Given the description of an element on the screen output the (x, y) to click on. 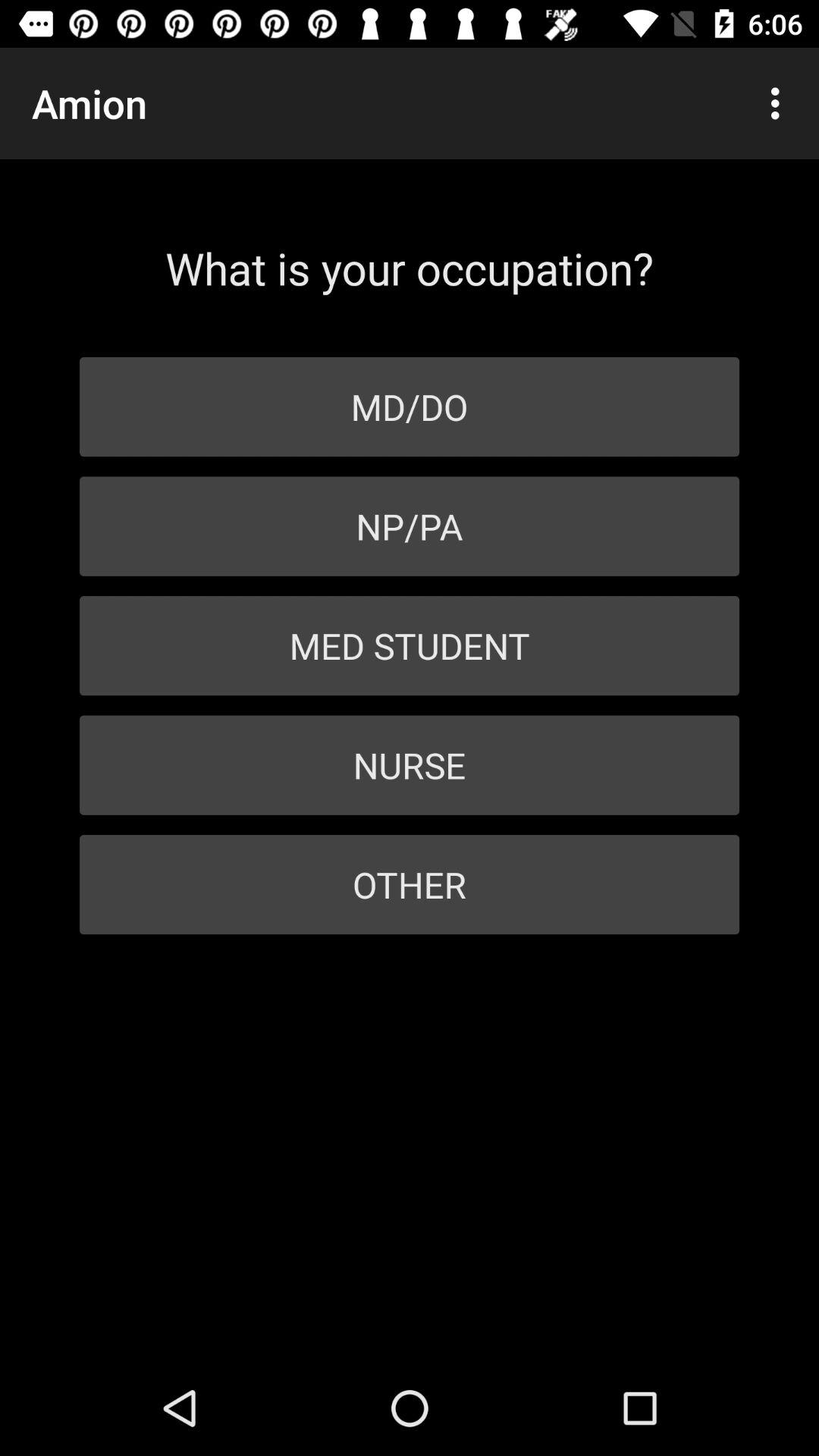
click icon above other (409, 765)
